Given the description of an element on the screen output the (x, y) to click on. 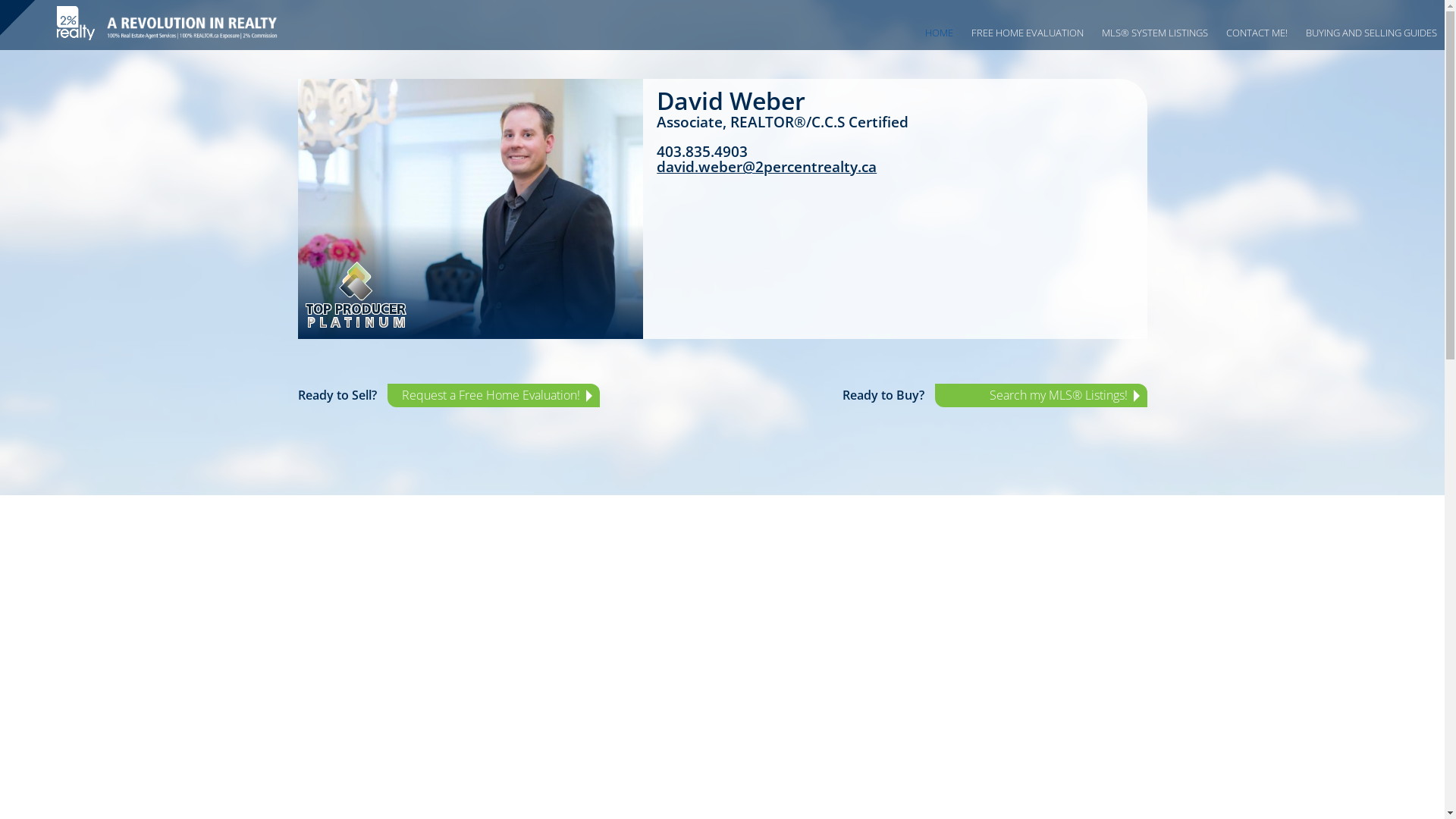
Request a Free Home Evaluation!  Element type: text (492, 395)
CONTACT ME! Element type: text (1256, 32)
FREE HOME EVALUATION Element type: text (1027, 32)
BUYING AND SELLING GUIDES Element type: text (1371, 32)
david.weber@2percentrealty.ca Element type: text (773, 166)
HOME Element type: text (938, 32)
